Given the description of an element on the screen output the (x, y) to click on. 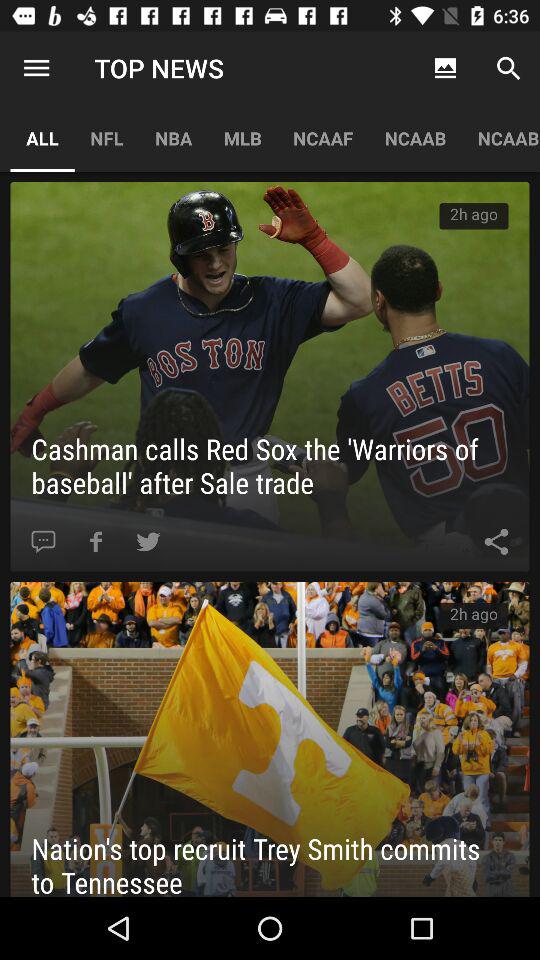
jump until the mlb (242, 138)
